Given the description of an element on the screen output the (x, y) to click on. 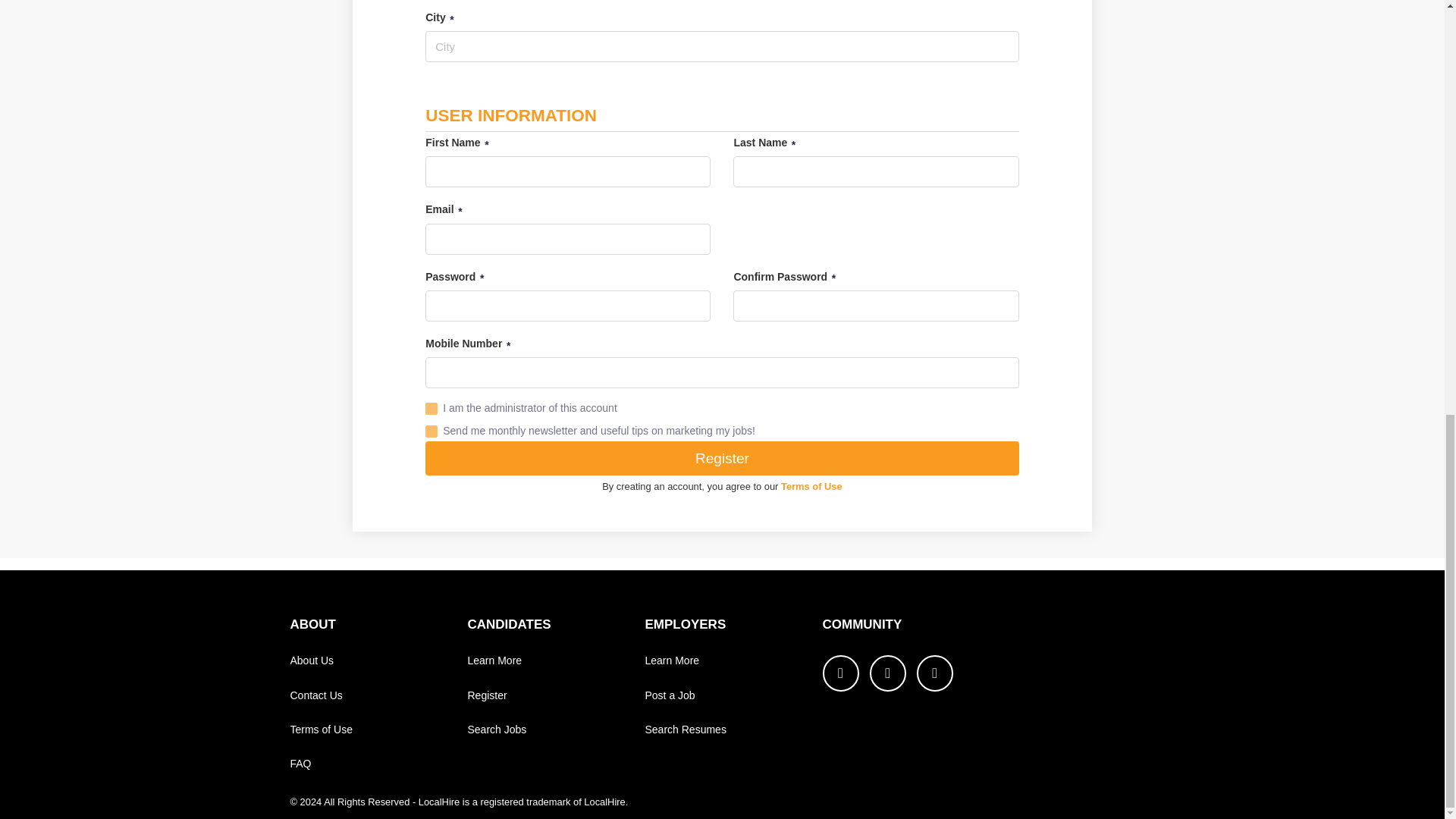
FAQ (300, 763)
Learn More (671, 660)
Contact Us (315, 694)
Learn More (494, 660)
About Us (311, 660)
Terms of Use (320, 729)
Register (486, 694)
Register (721, 458)
Terms of Use (811, 486)
Post a Job (669, 694)
Search Resumes (685, 729)
Search Jobs (496, 729)
